Given the description of an element on the screen output the (x, y) to click on. 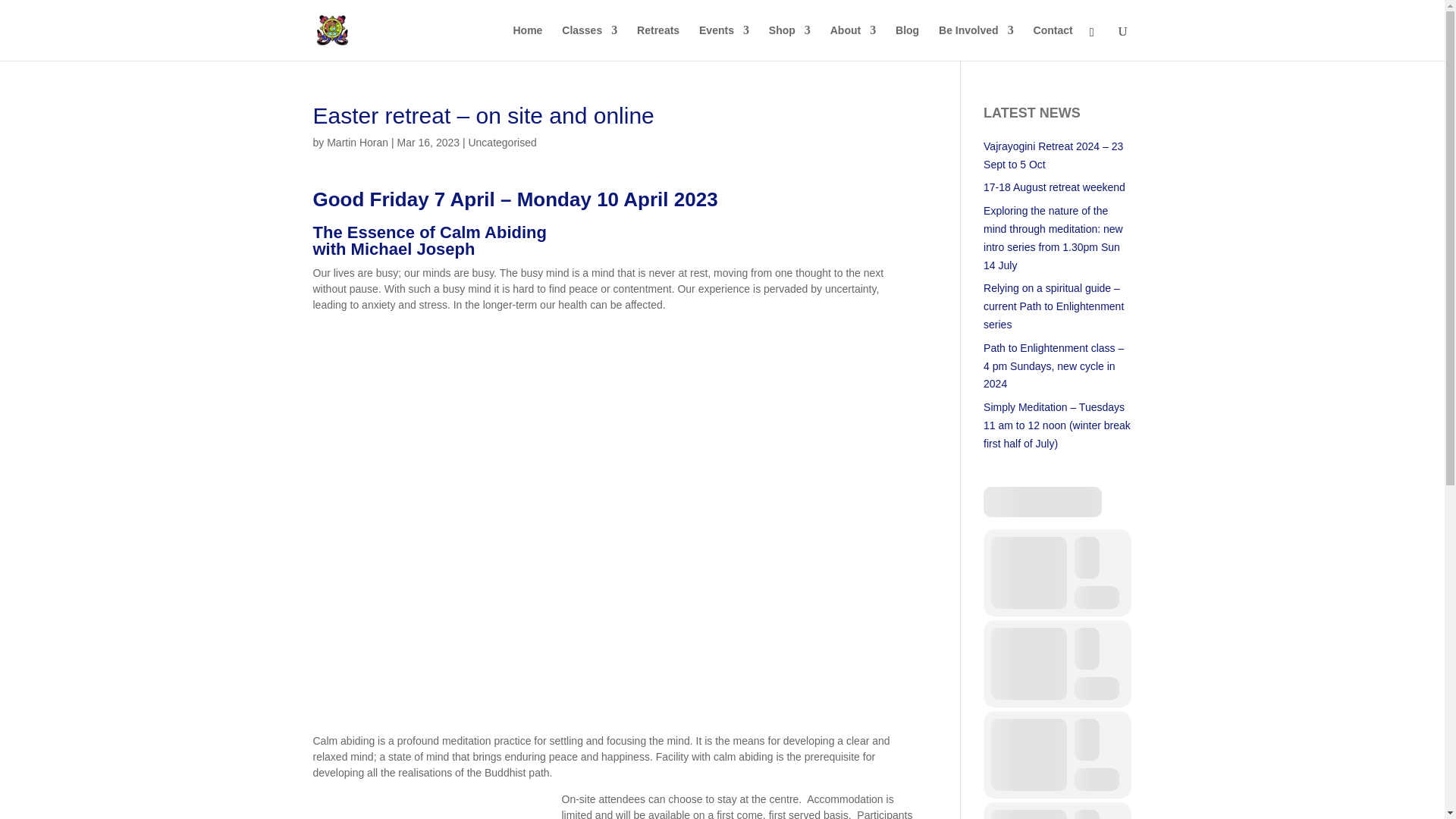
Posts by Martin Horan (357, 142)
Be Involved (976, 42)
Contact (1053, 42)
About (852, 42)
Retreats (658, 42)
Uncategorised (501, 142)
Shop (789, 42)
Classes (589, 42)
Martin Horan (357, 142)
Events (723, 42)
